Given the description of an element on the screen output the (x, y) to click on. 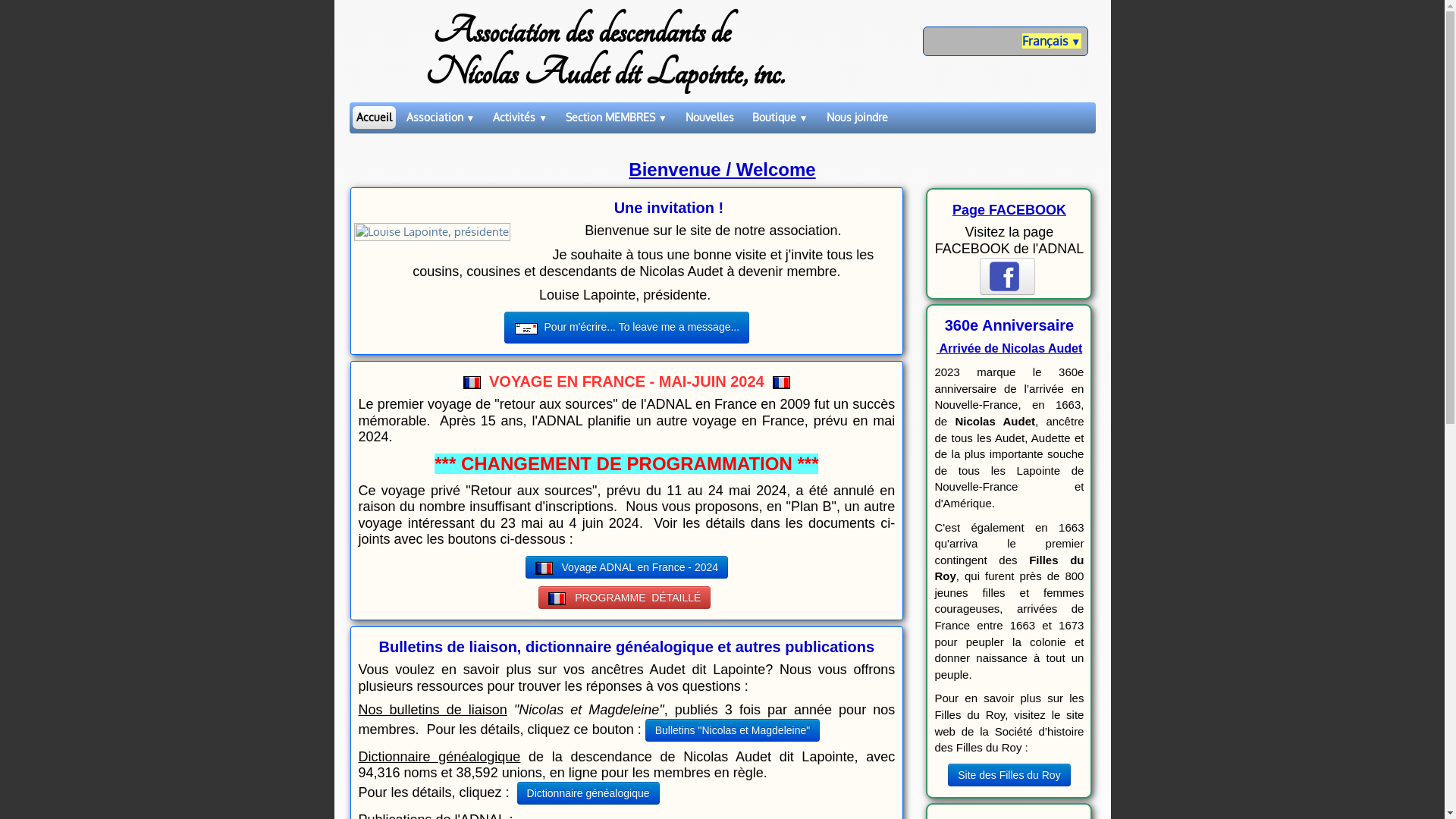
Nouvelles Element type: text (709, 117)
Site des Filles du Roy Element type: text (1008, 774)
Nous joindre Element type: text (857, 117)
Voyage ADNAL en France - 2024 Element type: text (626, 566)
Bulletins "Nicolas et Magdeleine" Element type: text (732, 729)
Accueil Element type: text (373, 117)
